Given the description of an element on the screen output the (x, y) to click on. 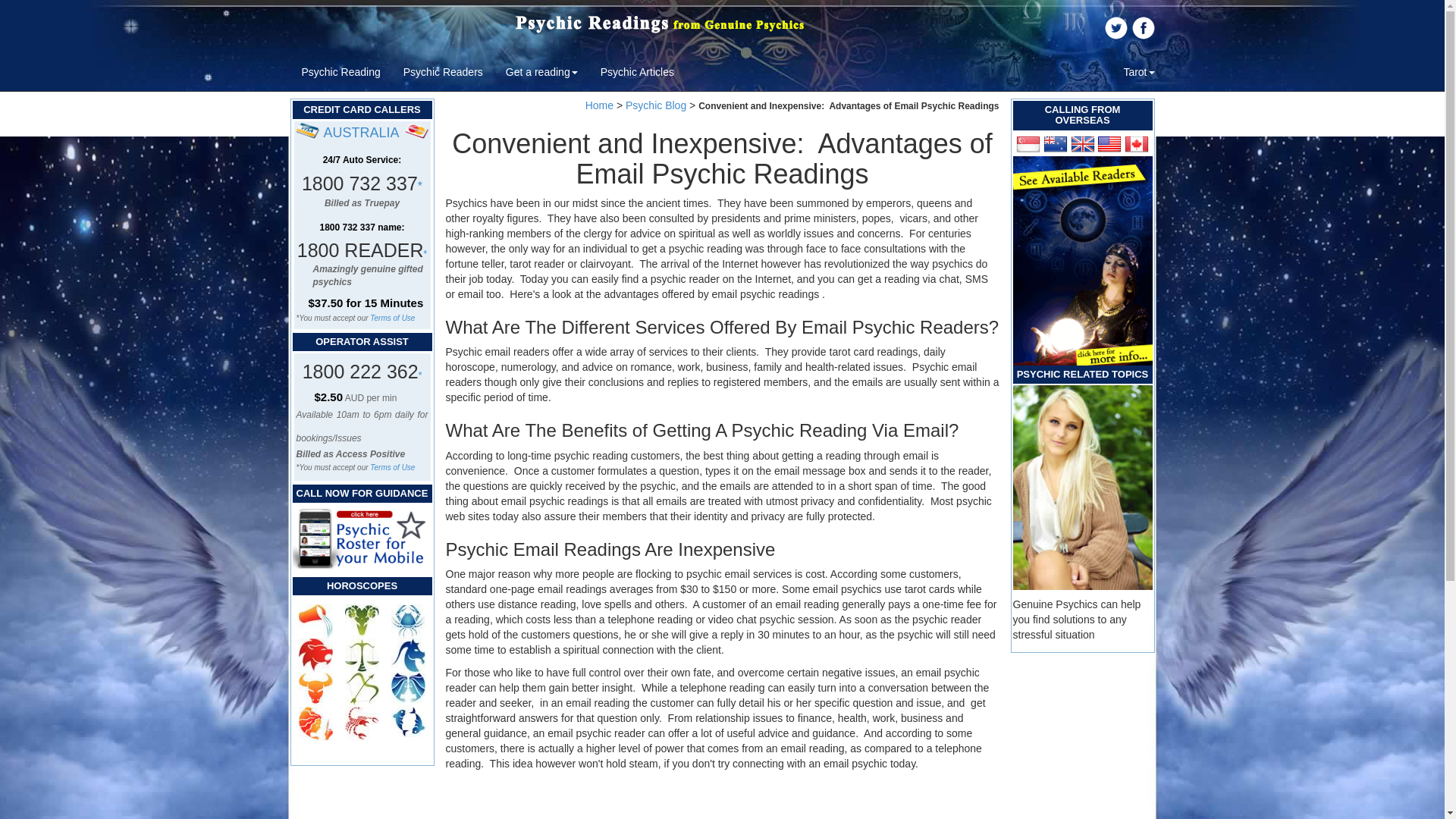
Follow Us on Twitter! (1114, 27)
Canada (1136, 143)
United Kingdom (1082, 143)
Credit Card (416, 129)
Get a reading (542, 71)
Credit Card (307, 129)
Tarot (1139, 71)
AUSTRALIA (360, 132)
Psychic Readers (443, 71)
Terms of Use (391, 467)
